Given the description of an element on the screen output the (x, y) to click on. 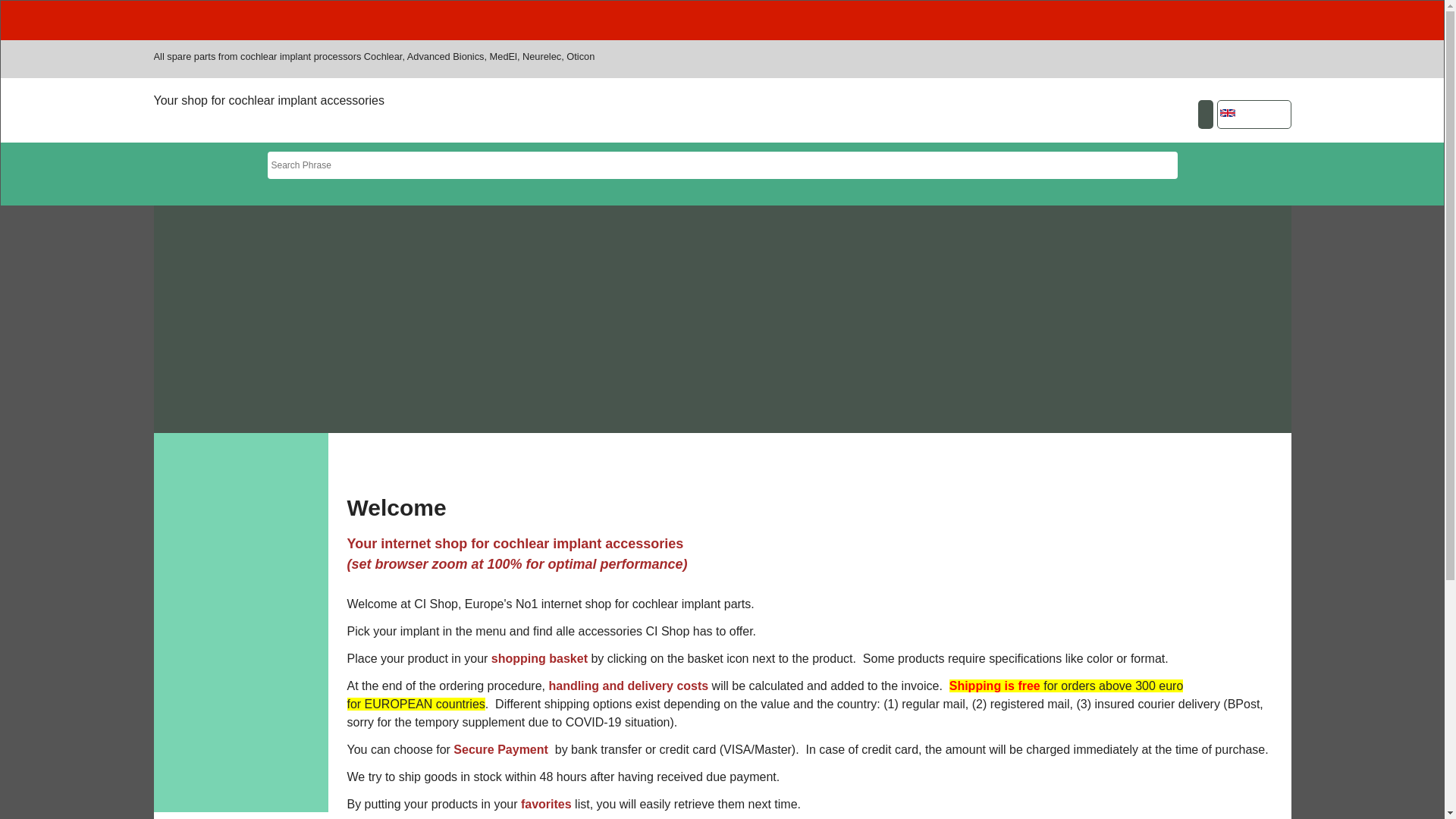
English Element type: hover (1227, 112)
fast - easy - safe Element type: hover (1226, 541)
